Given the description of an element on the screen output the (x, y) to click on. 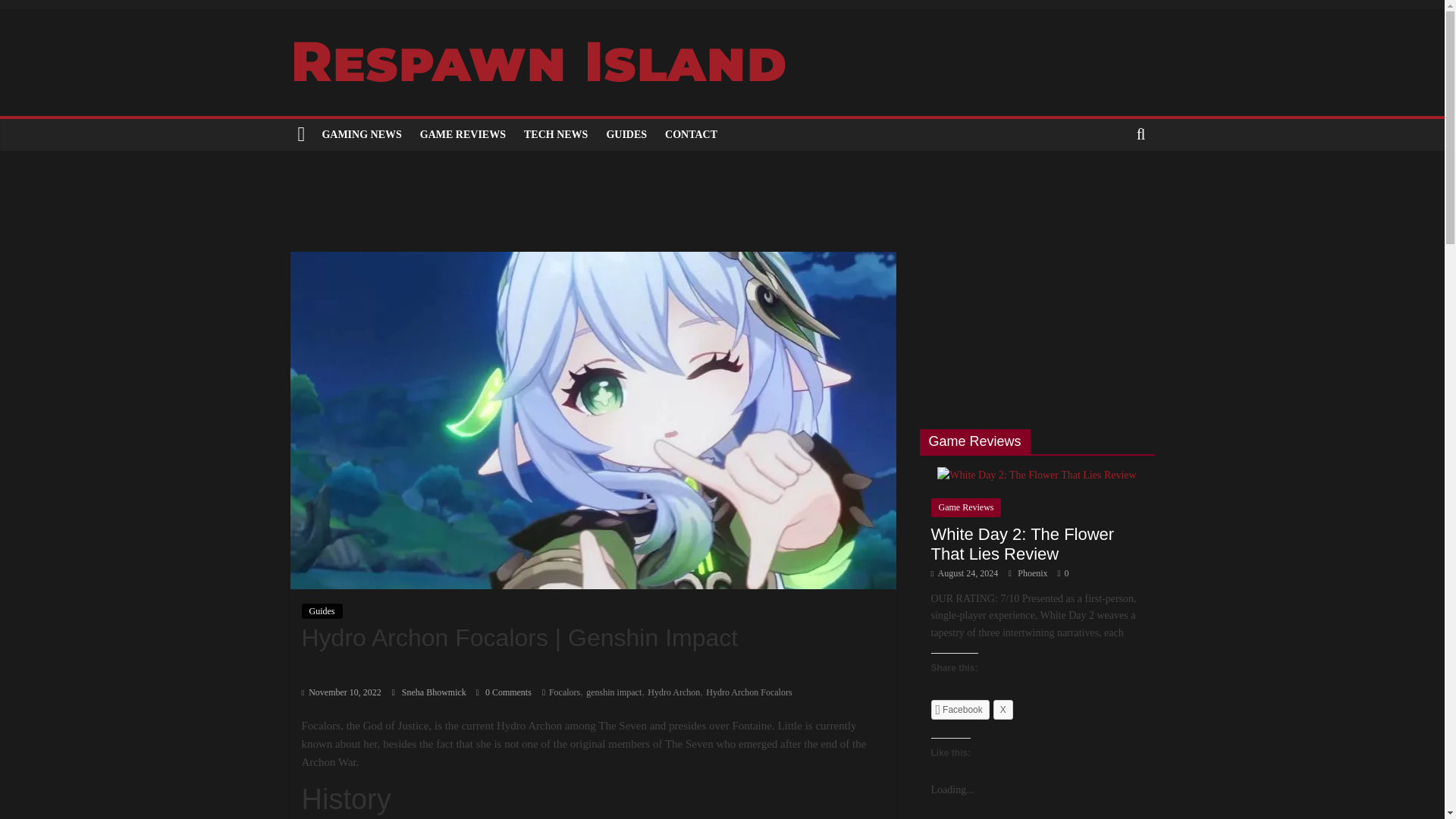
0 Comments (503, 692)
TECH NEWS (555, 134)
GAMING NEWS (361, 134)
Hydro Archon (673, 692)
GAME REVIEWS (462, 134)
CONTACT (691, 134)
Sneha Bhowmick (434, 692)
GUIDES (626, 134)
7:04 pm (341, 692)
November 10, 2022 (341, 692)
